Given the description of an element on the screen output the (x, y) to click on. 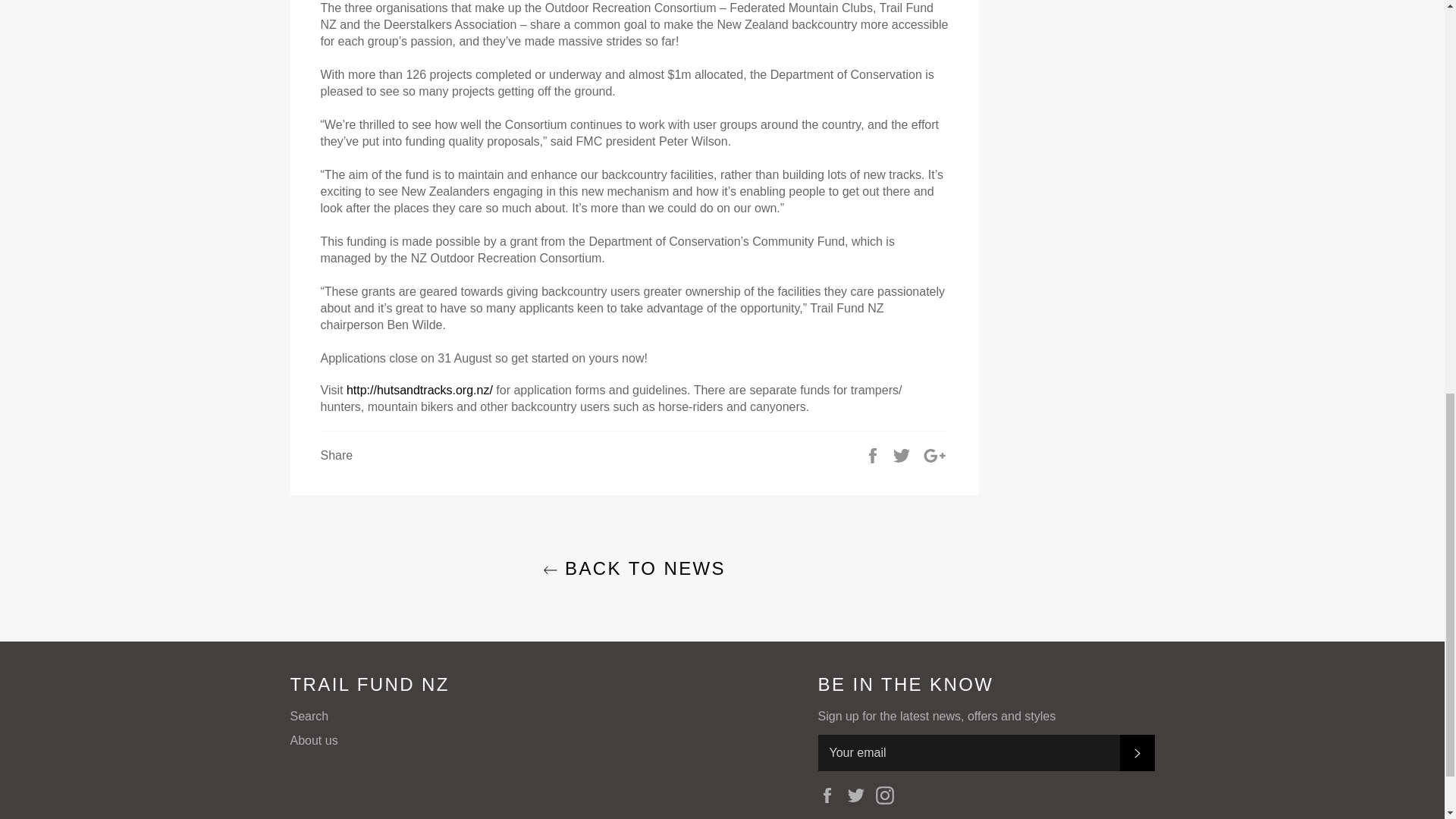
Tweet on Twitter (903, 454)
Trail Fund on Instagram (888, 794)
Trail Fund on Twitter (859, 794)
Trail Fund on Facebook (829, 794)
Share on Facebook (874, 454)
